Given the description of an element on the screen output the (x, y) to click on. 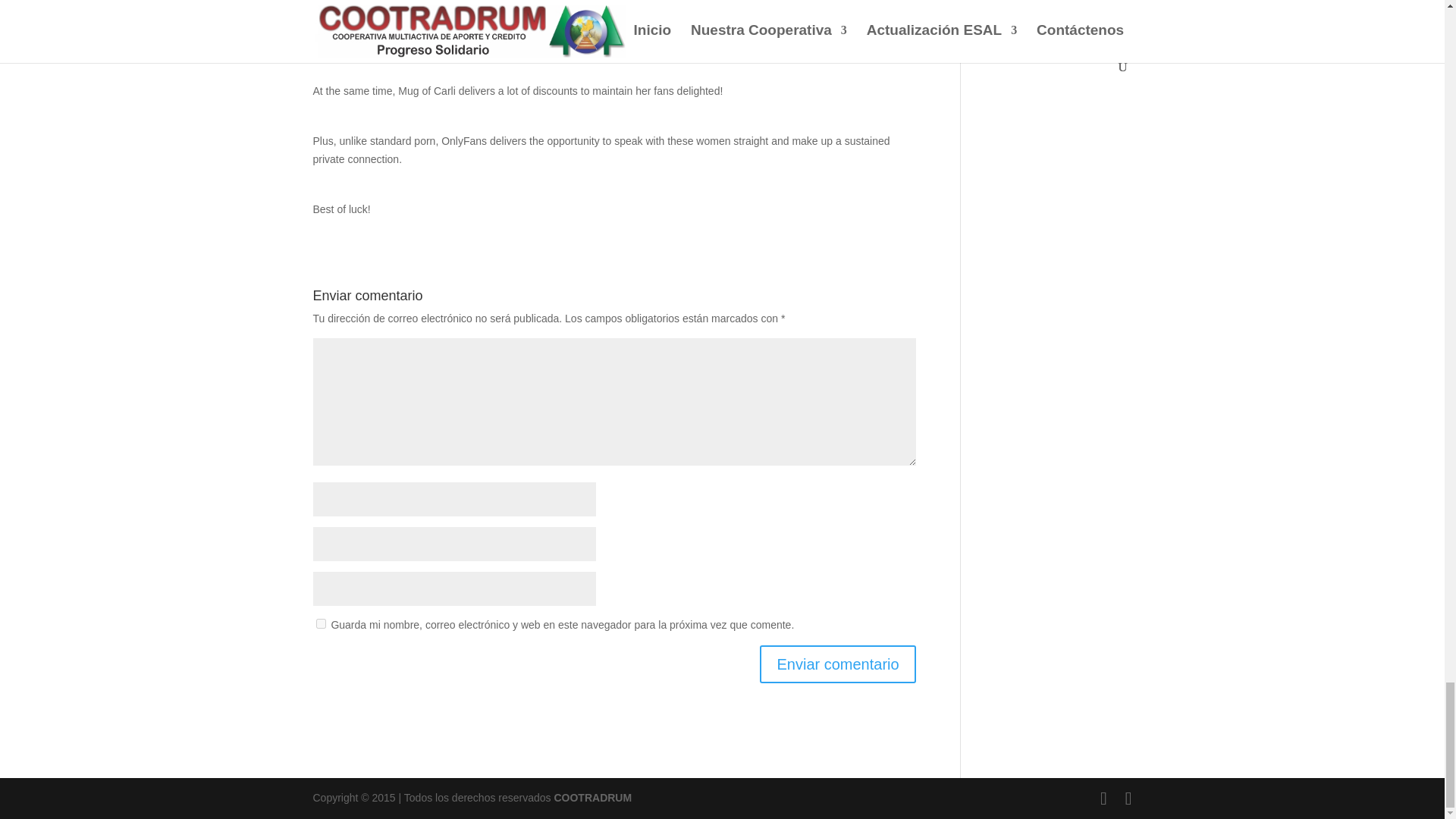
Enviar comentario (837, 664)
Enviar comentario (837, 664)
yes (319, 623)
